Given the description of an element on the screen output the (x, y) to click on. 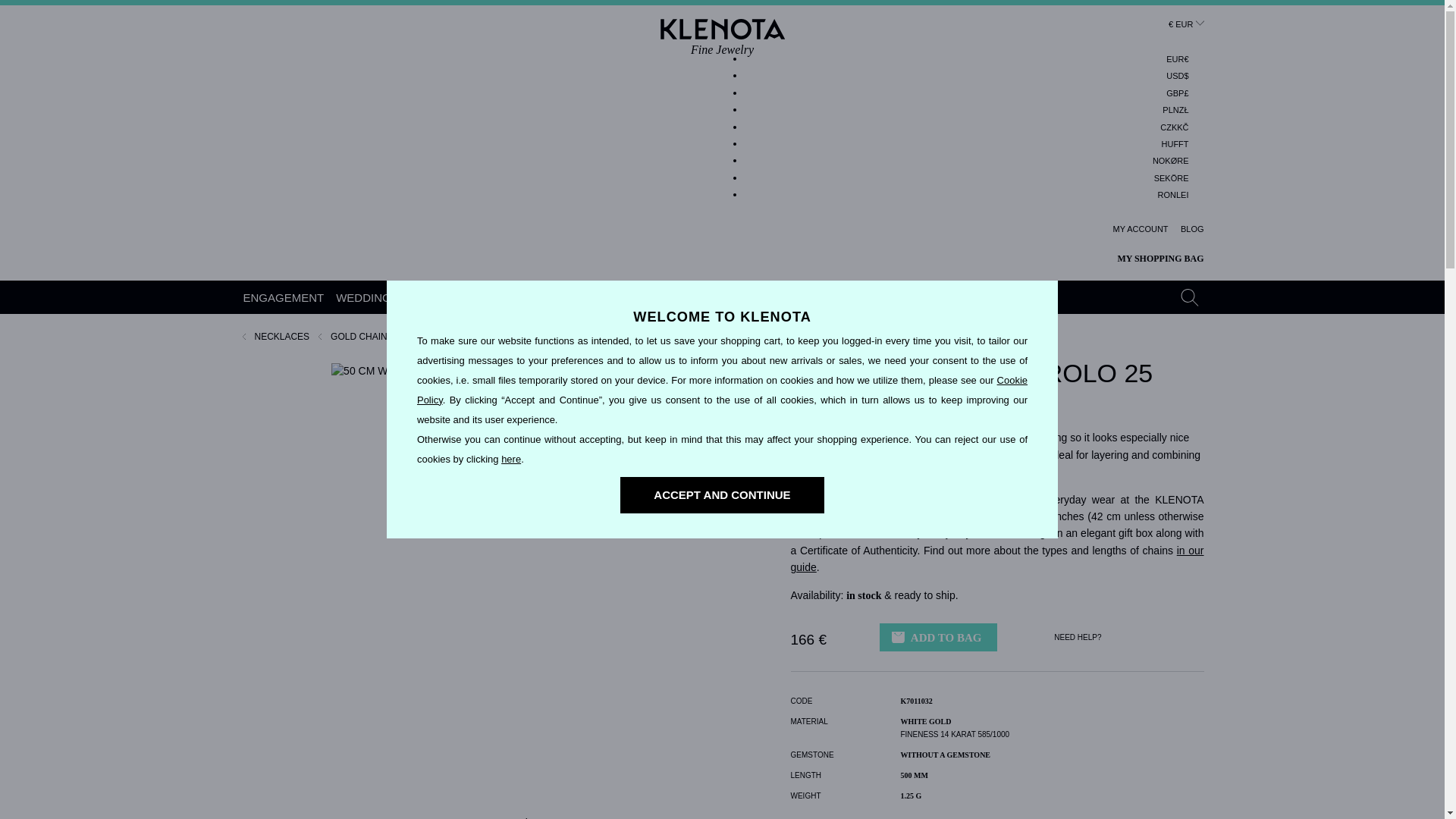
MY ACCOUNT (1141, 228)
ENGAGEMENT (283, 296)
BLOG (1192, 228)
MY SHOPPING BAG (1173, 195)
